Given the description of an element on the screen output the (x, y) to click on. 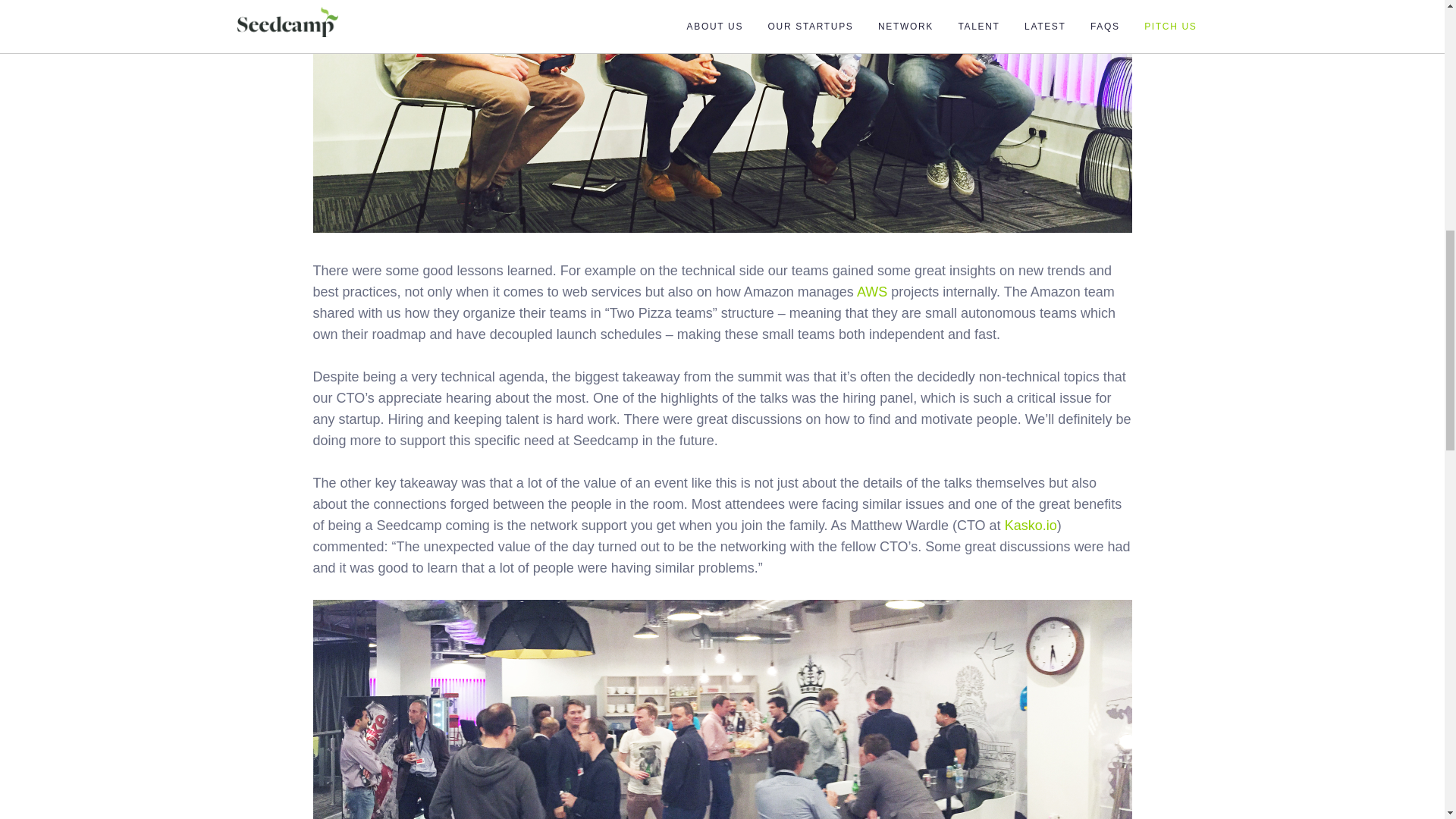
Kasko.io (1030, 525)
AWS (871, 291)
